Given the description of an element on the screen output the (x, y) to click on. 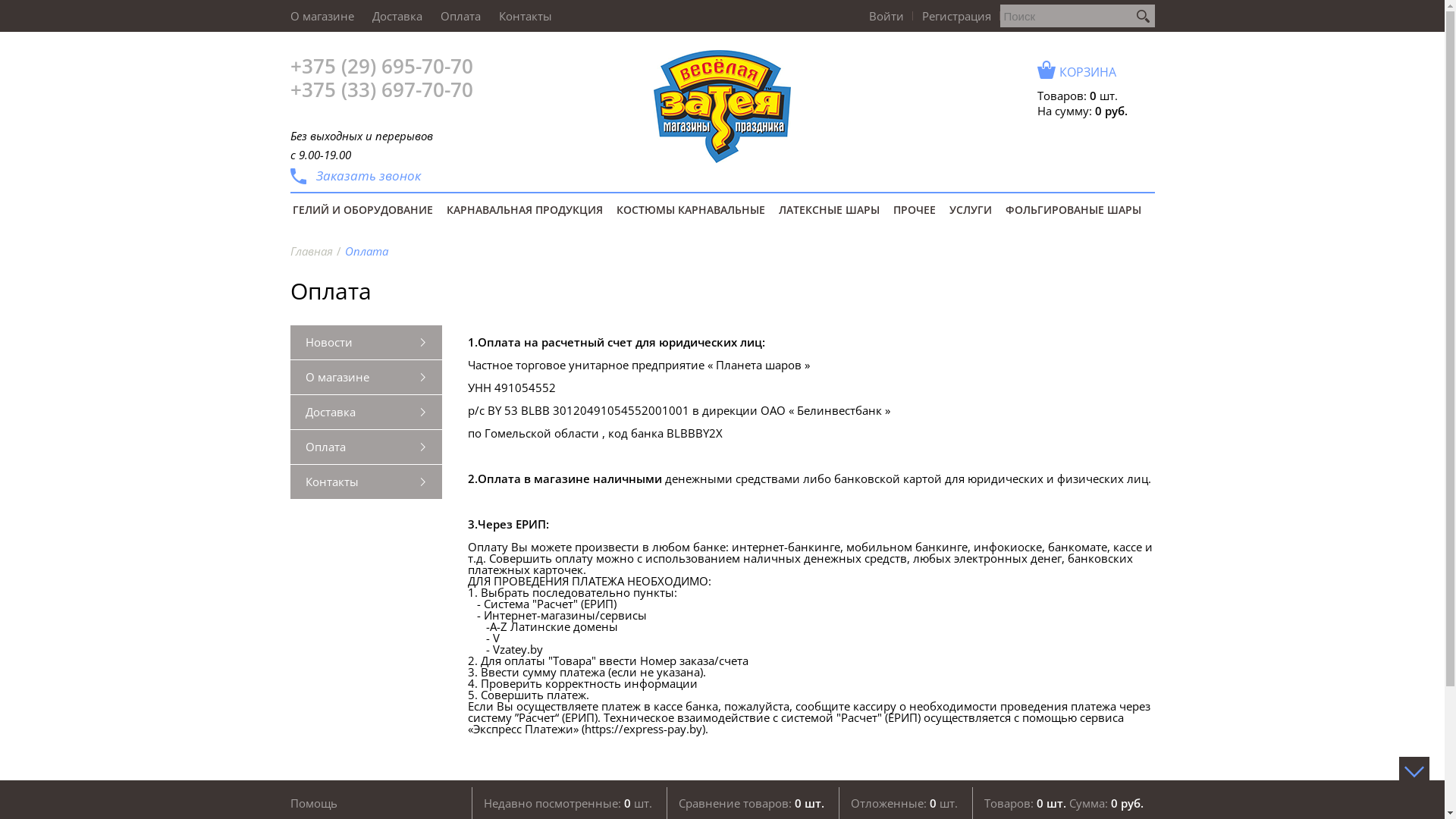
https://express-pay.by Element type: text (642, 728)
logo.png Element type: hover (721, 106)
